Given the description of an element on the screen output the (x, y) to click on. 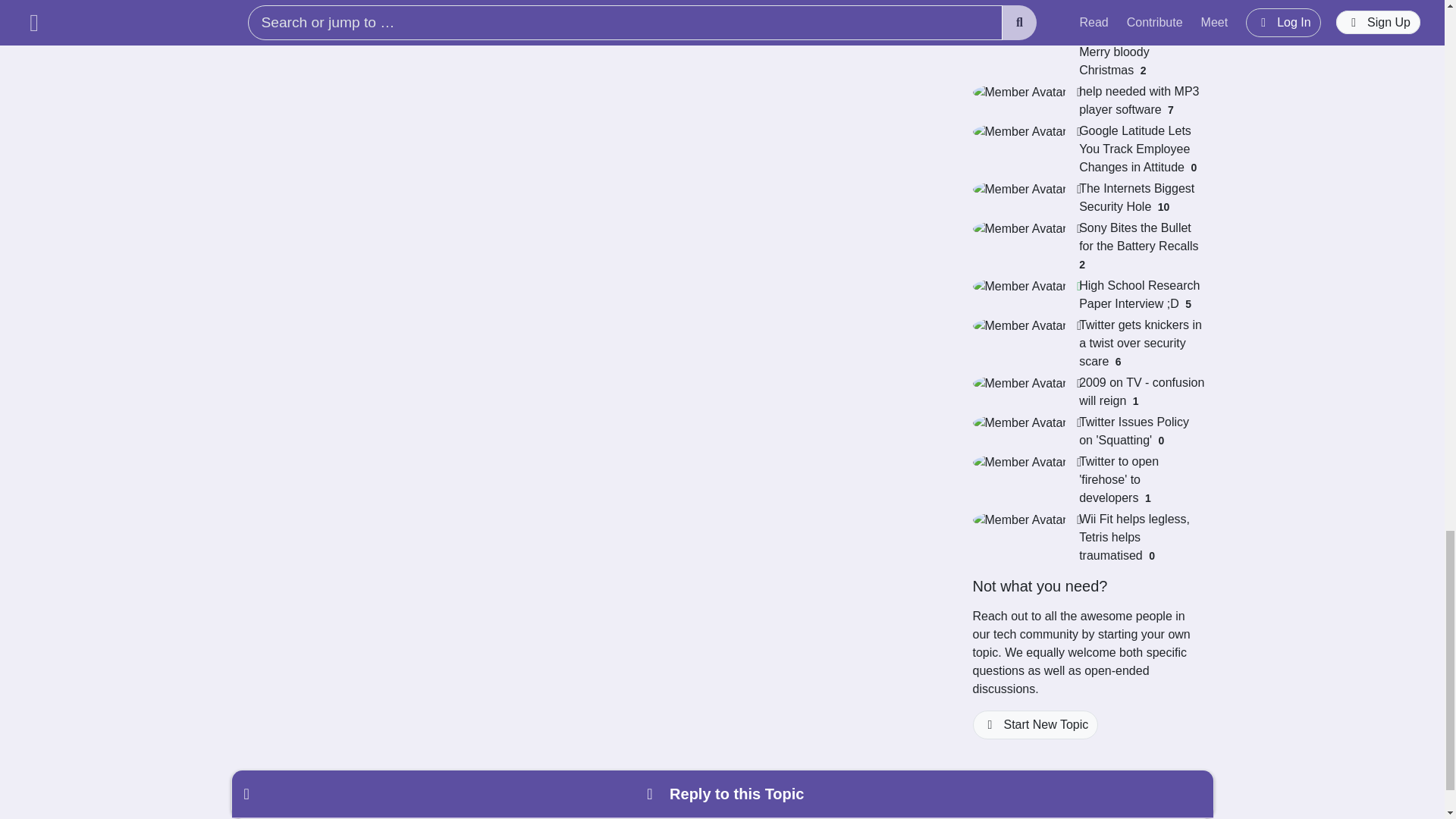
High School Research Paper Interview ;D 5 (1088, 294)
iPhone data down? Merry bloody Christmas 2 (1088, 52)
Sony Bites the Bullet for the Battery Recalls 2 (1088, 246)
Twitter gets knickers in a twist over security scare 6 (1088, 343)
Software for managing a repair business? 13 (1088, 11)
2009 on TV - confusion will reign 1 (1088, 391)
The Internets Biggest Security Hole 10 (1088, 197)
help needed with MP3 player software 7 (1088, 100)
